Given the description of an element on the screen output the (x, y) to click on. 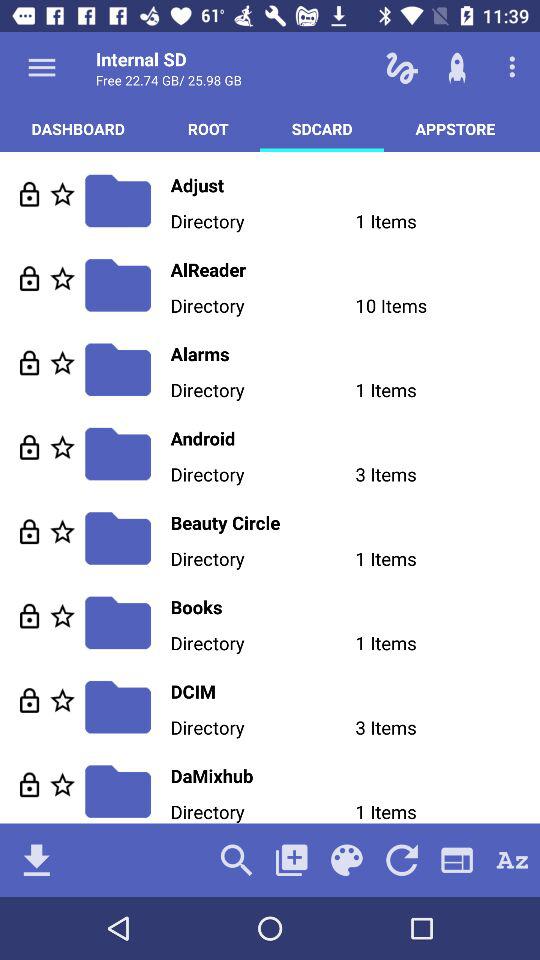
mark folder as important (62, 615)
